Given the description of an element on the screen output the (x, y) to click on. 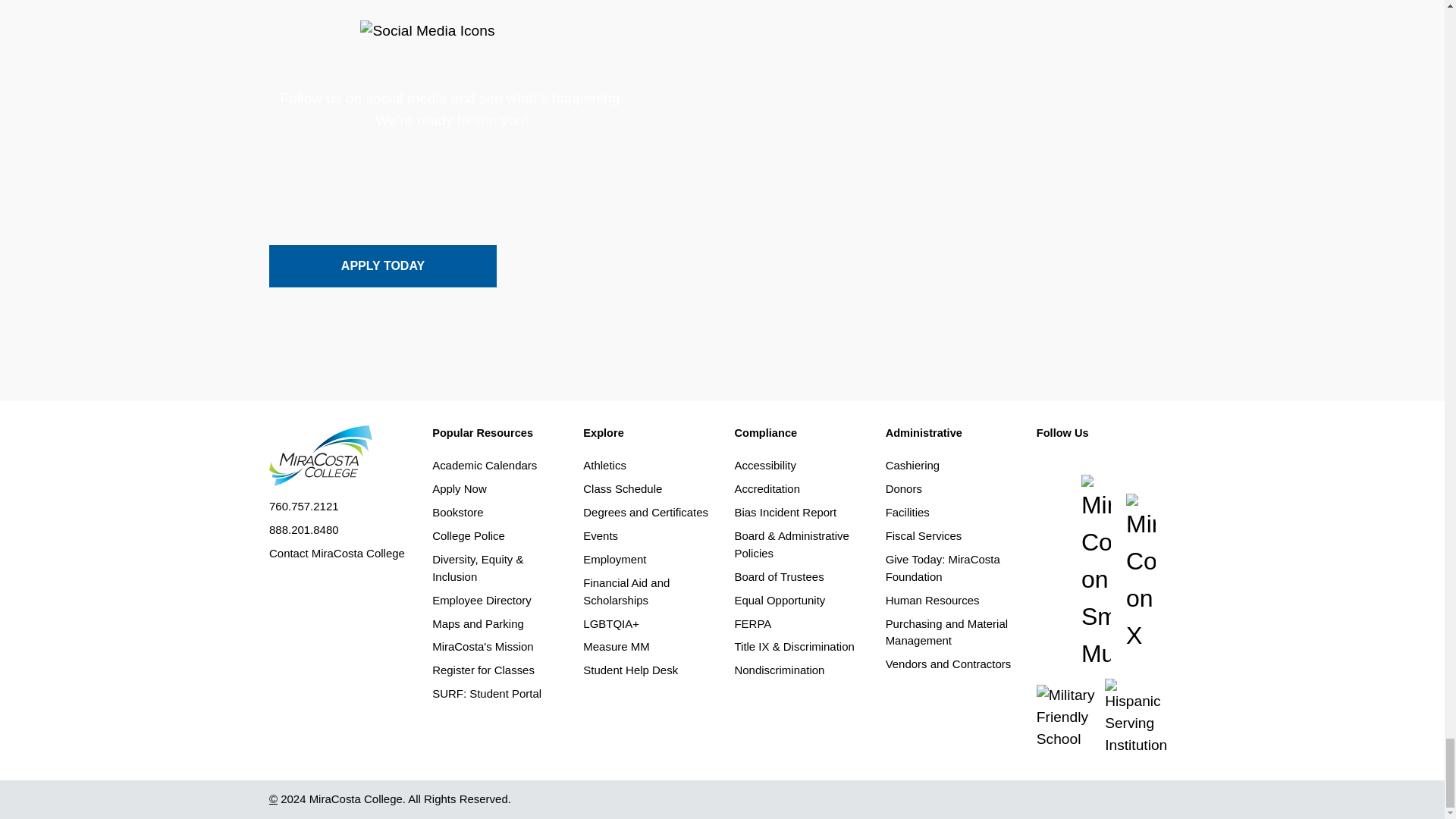
Register for MiraCosta College classes (483, 669)
MiraCosta College employee directory (481, 599)
Apply to MiraCosta College now (459, 488)
MiraCosta College maps and parking information (478, 623)
Download MiraCosta College academic calendars (484, 464)
The MiraCosta College Police department (468, 535)
The MiraCosta College Bookstore (457, 512)
